Given the description of an element on the screen output the (x, y) to click on. 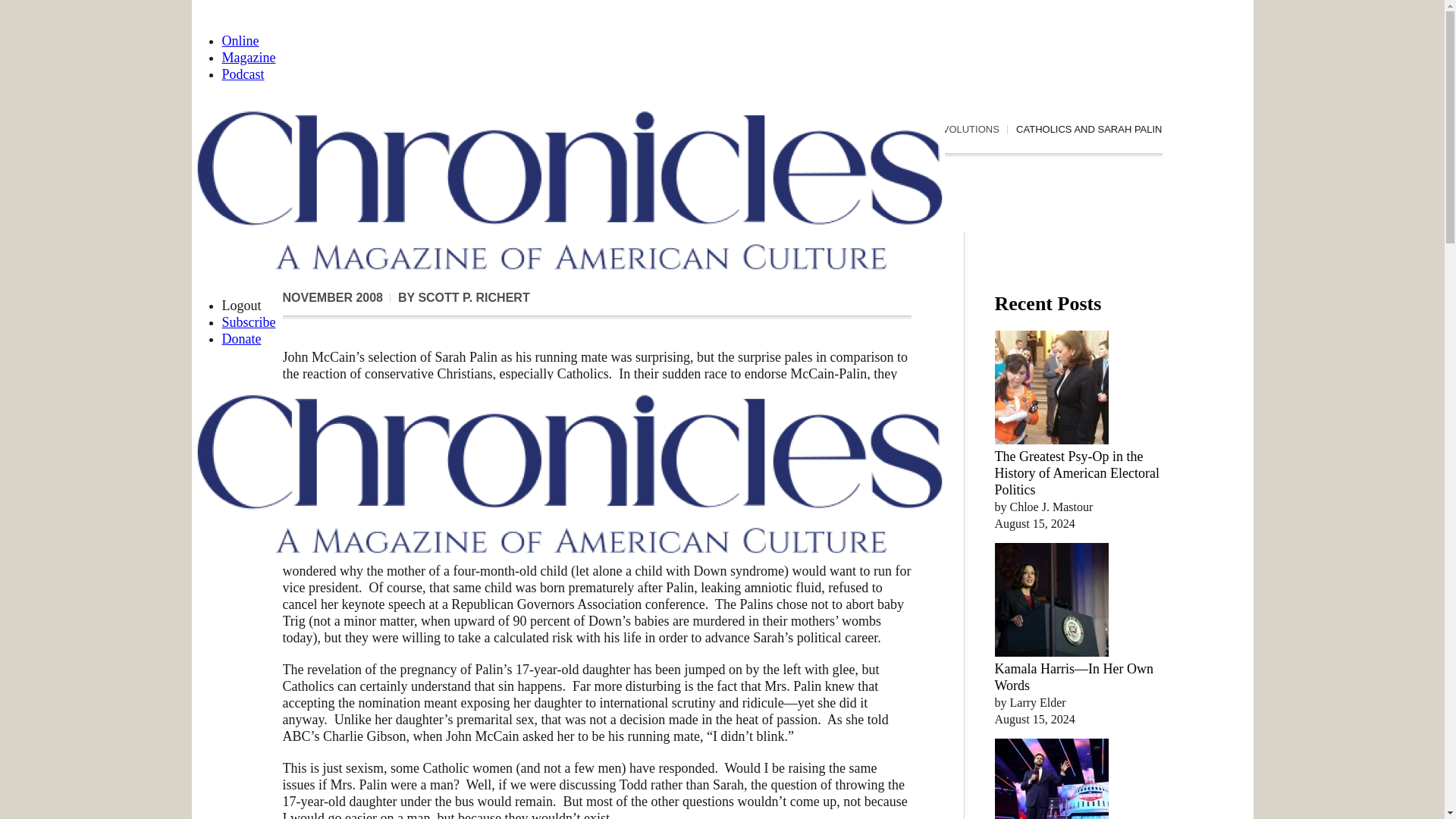
CULTURAL REVOLUTIONS (936, 129)
November 01,  (332, 297)
HOME (843, 129)
SCOTT P. RICHERT (473, 297)
Posts by Scott P. Richert (473, 297)
